Given the description of an element on the screen output the (x, y) to click on. 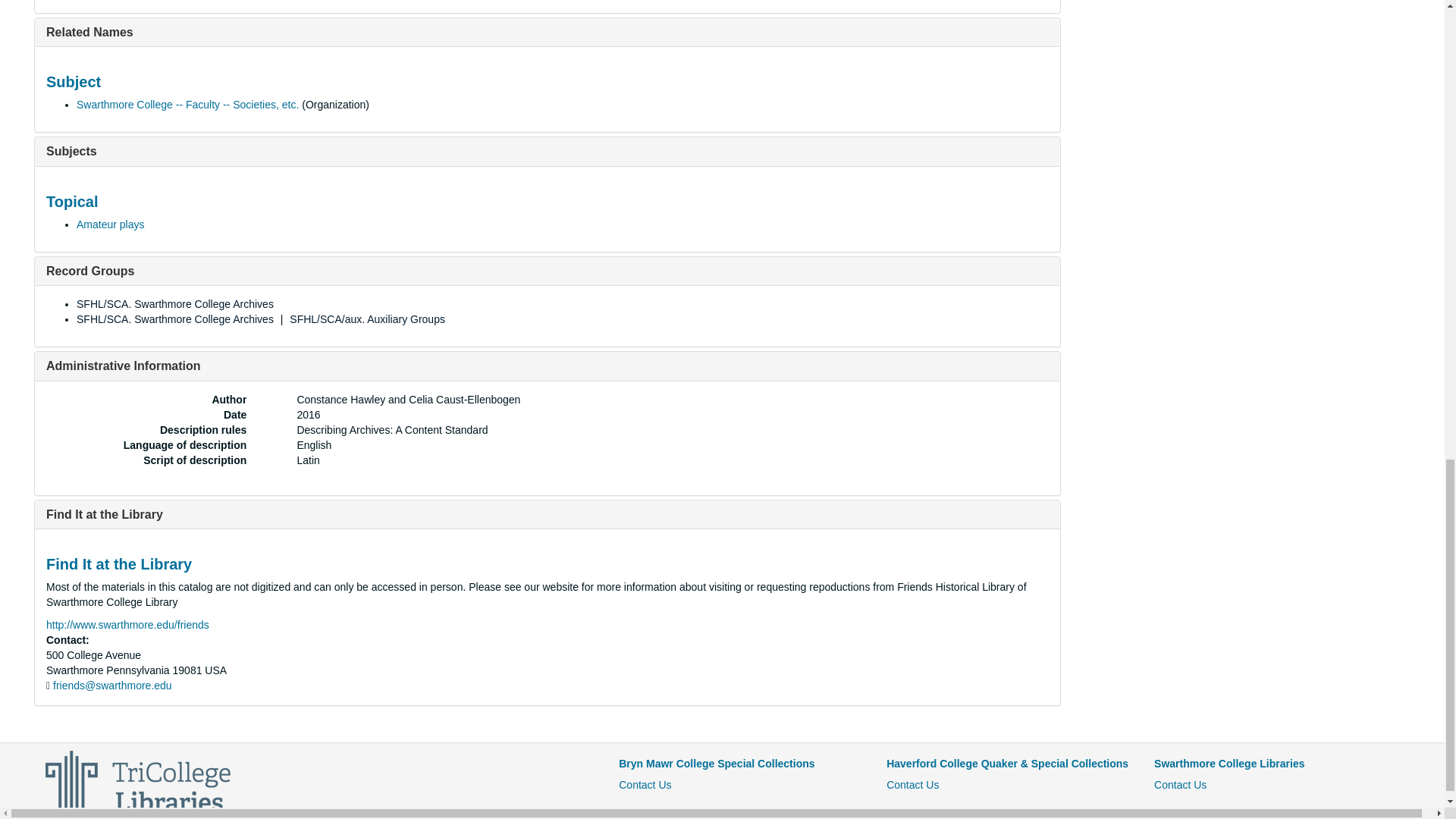
Swarthmore College -- Faculty -- Societies, etc. (187, 104)
Find It at the Library (104, 513)
Record Groups (89, 270)
Related Names (89, 31)
Subjects (71, 151)
Amateur plays (110, 224)
Administrative Information (123, 365)
Send email (111, 685)
